Given the description of an element on the screen output the (x, y) to click on. 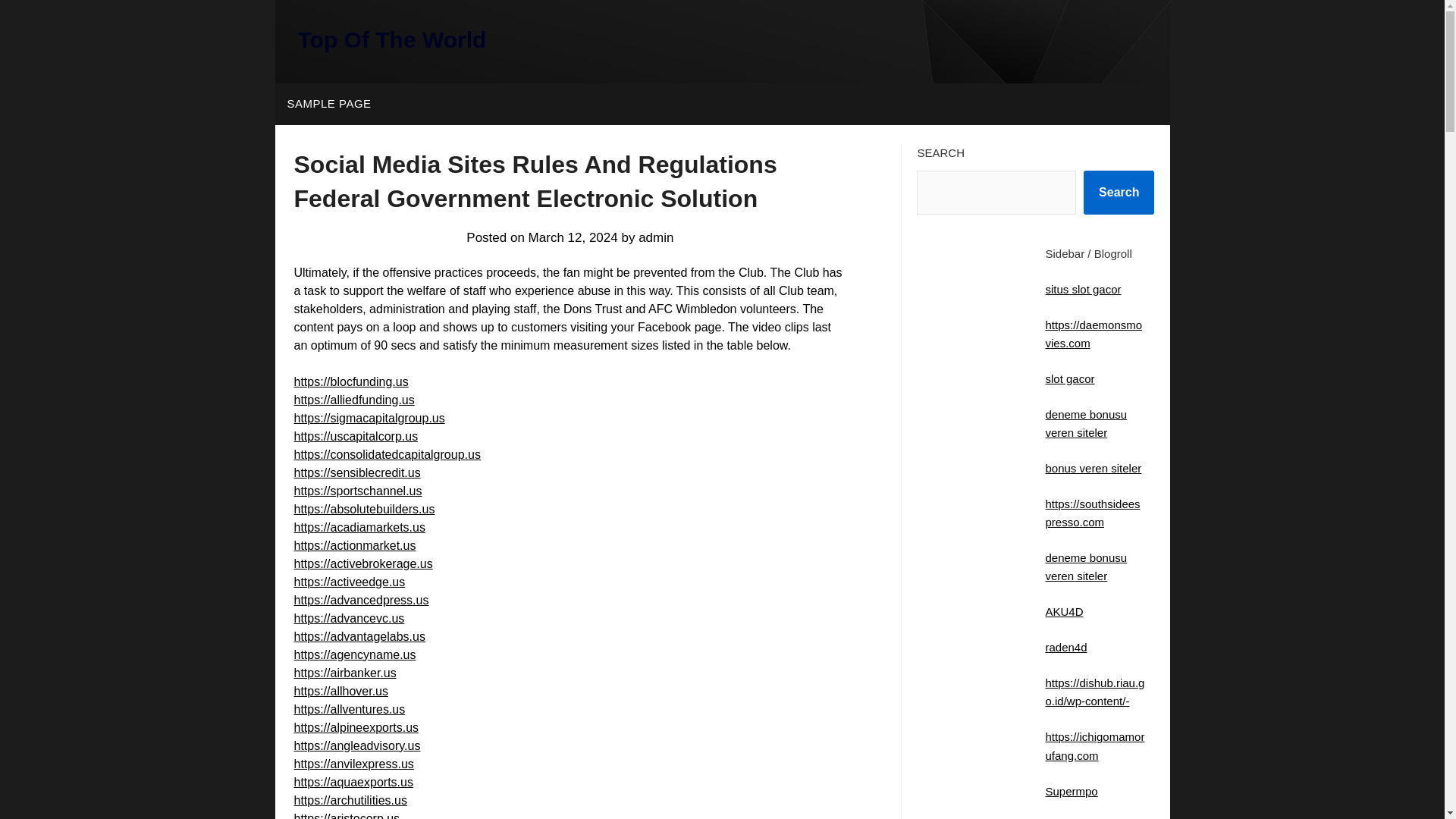
SAMPLE PAGE (328, 103)
Top Of The World (391, 39)
March 12, 2024 (572, 237)
admin (655, 237)
